Given the description of an element on the screen output the (x, y) to click on. 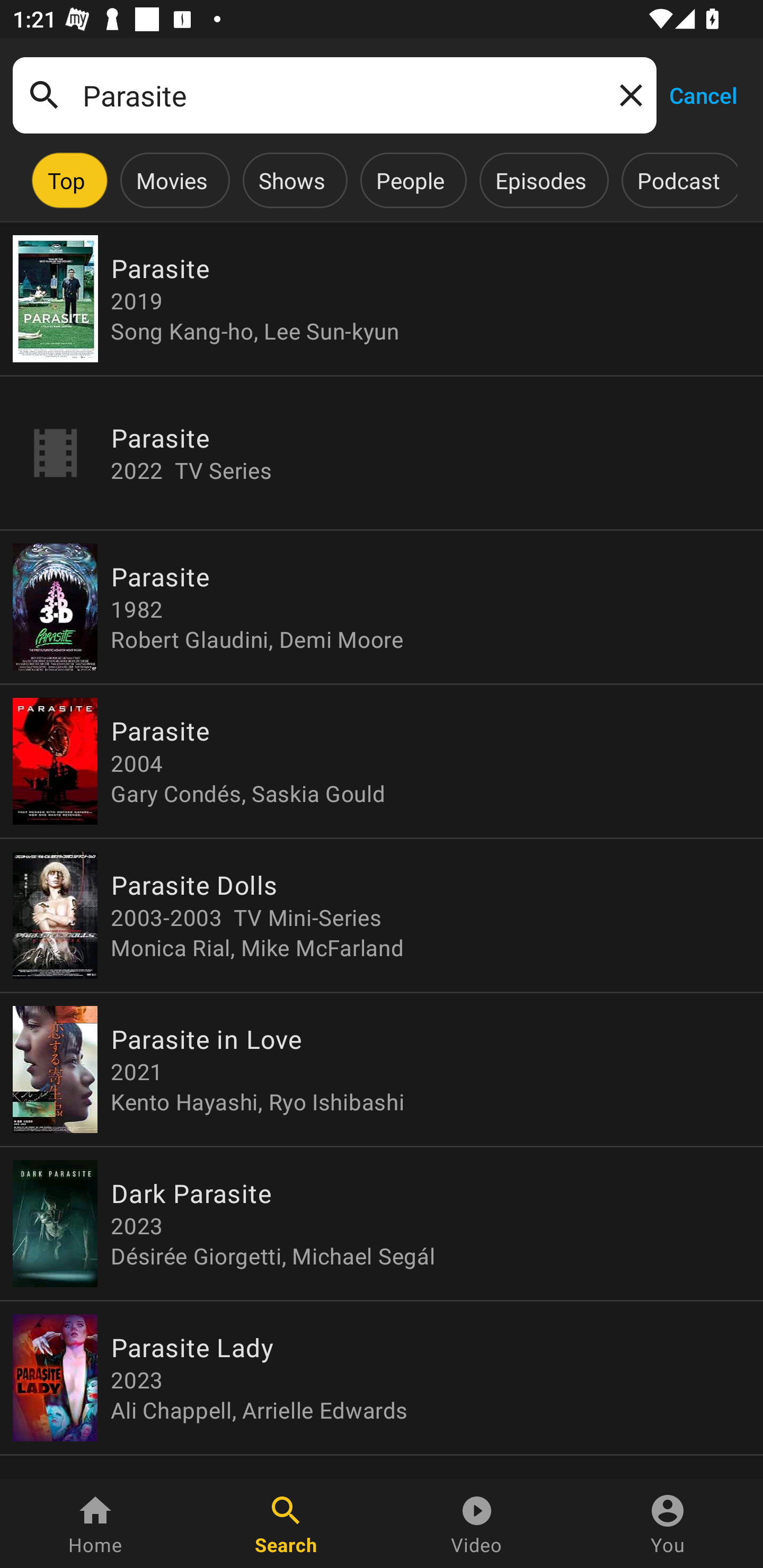
Clear query (627, 94)
Cancel (703, 94)
Parasite (334, 95)
Top (66, 180)
Movies (171, 180)
Shows (291, 180)
People (410, 180)
Episodes (540, 180)
Podcast (678, 180)
Parasite 2019 Song Kang-ho, Lee Sun-kyun (381, 298)
Parasite 2022  TV Series (381, 452)
Parasite 1982 Robert Glaudini, Demi Moore (381, 607)
Parasite 2004 Gary Condés, Saskia Gould (381, 761)
Parasite in Love 2021 Kento Hayashi, Ryo Ishibashi (381, 1069)
Parasite Lady 2023 Ali Chappell, Arrielle Edwards (381, 1377)
Home (95, 1523)
Video (476, 1523)
You (667, 1523)
